Given the description of an element on the screen output the (x, y) to click on. 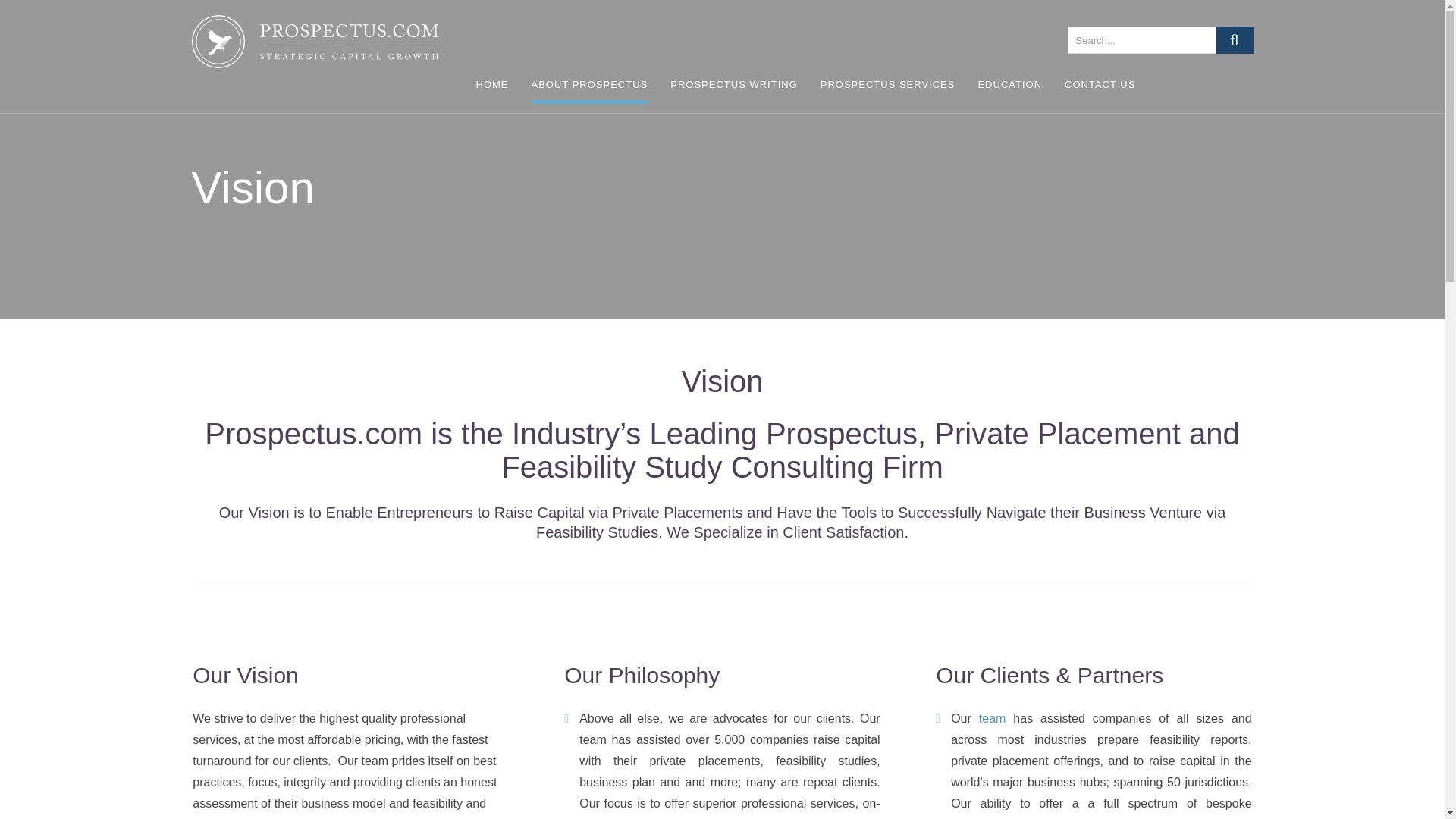
Search (1234, 40)
PROSPECTUS SERVICES (888, 89)
EDUCATION (1009, 89)
ABOUT PROSPECTUS (589, 89)
CONTACT US (1099, 89)
Prospectus.com (314, 45)
PROSPECTUS WRITING (733, 89)
